Given the description of an element on the screen output the (x, y) to click on. 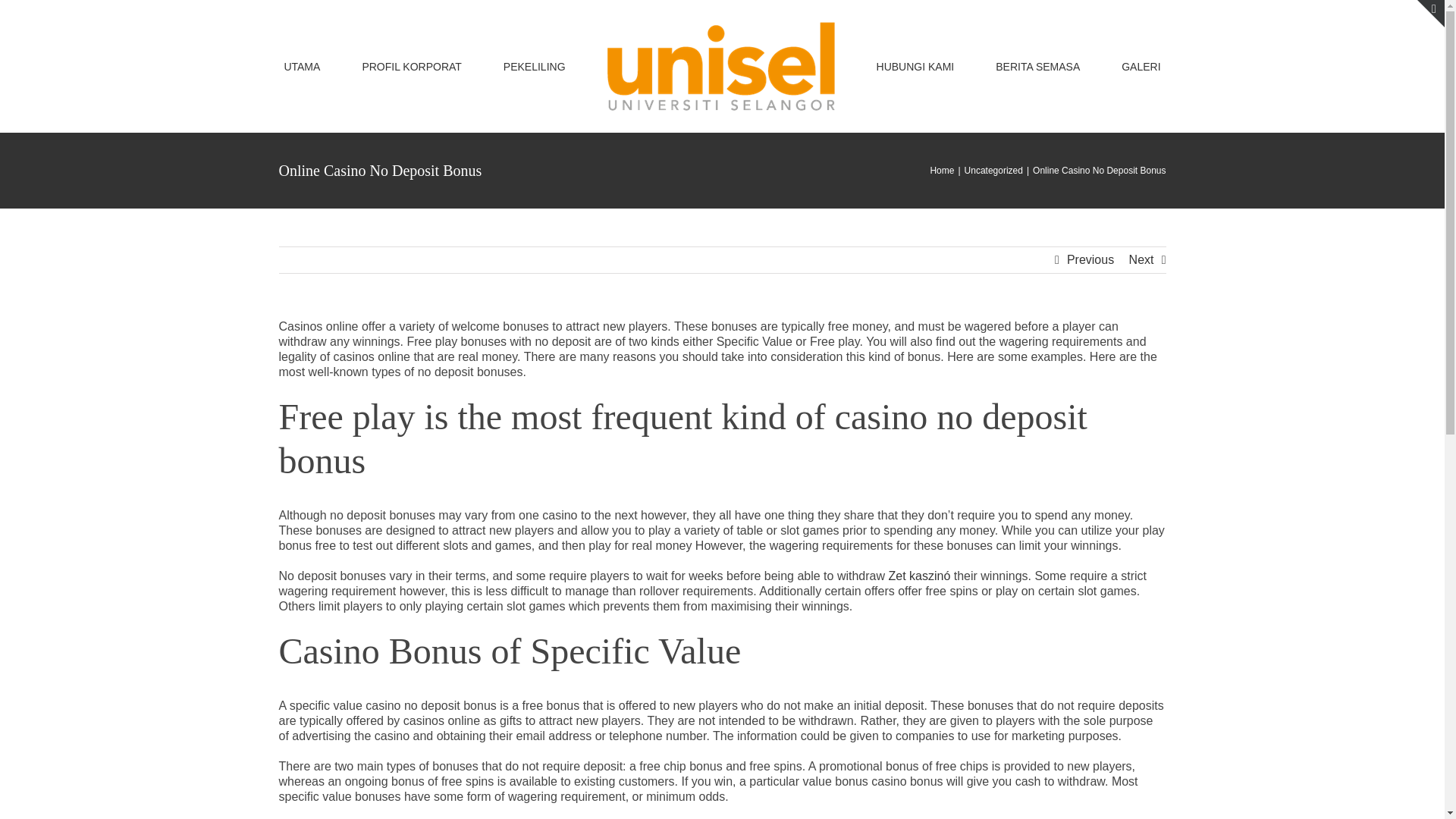
BERITA SEMASA (1037, 66)
HUBUNGI KAMI (915, 66)
Home (941, 170)
Next (1141, 259)
Previous (1090, 259)
Uncategorized (993, 170)
PROFIL KORPORAT (411, 66)
